Given the description of an element on the screen output the (x, y) to click on. 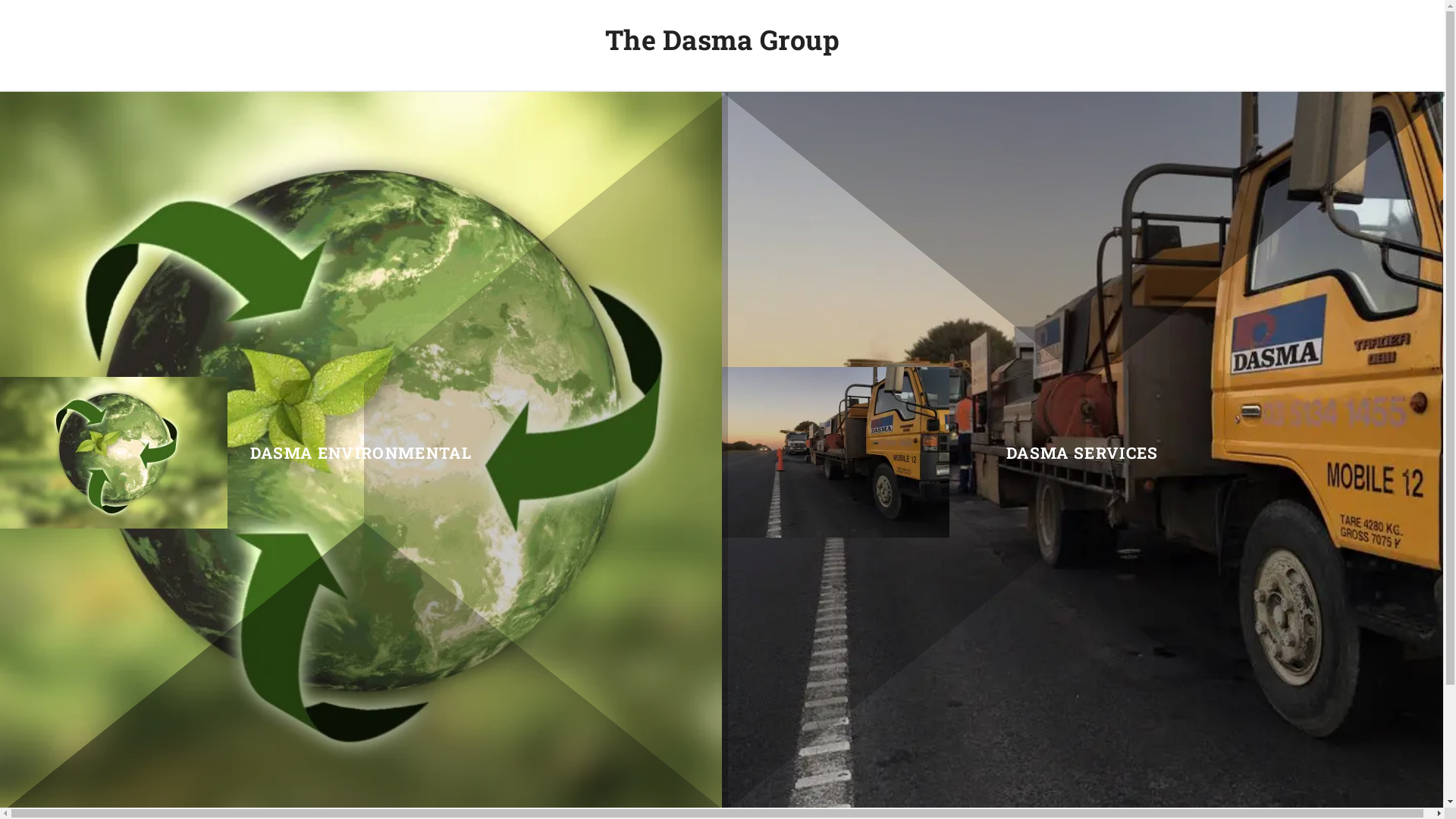
DASMA SERVICES Element type: text (1082, 452)
DASMA ENVIRONMENTAL Element type: text (360, 452)
